Given the description of an element on the screen output the (x, y) to click on. 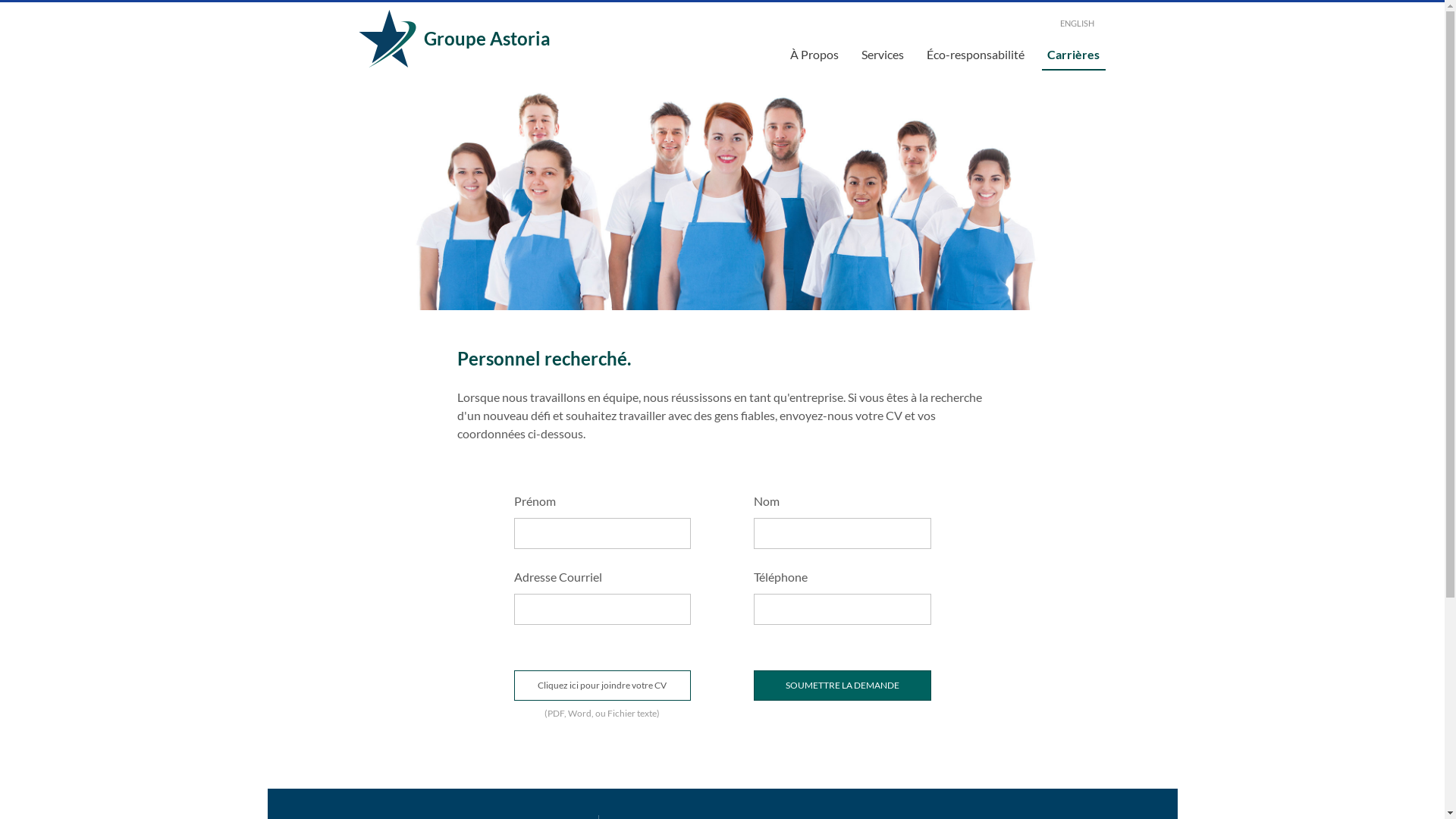
ENGLISH Element type: text (933, 23)
Groupe Astoria Element type: text (509, 38)
Services Element type: text (882, 56)
SOUMETTRE LA DEMANDE Element type: text (842, 685)
